Given the description of an element on the screen output the (x, y) to click on. 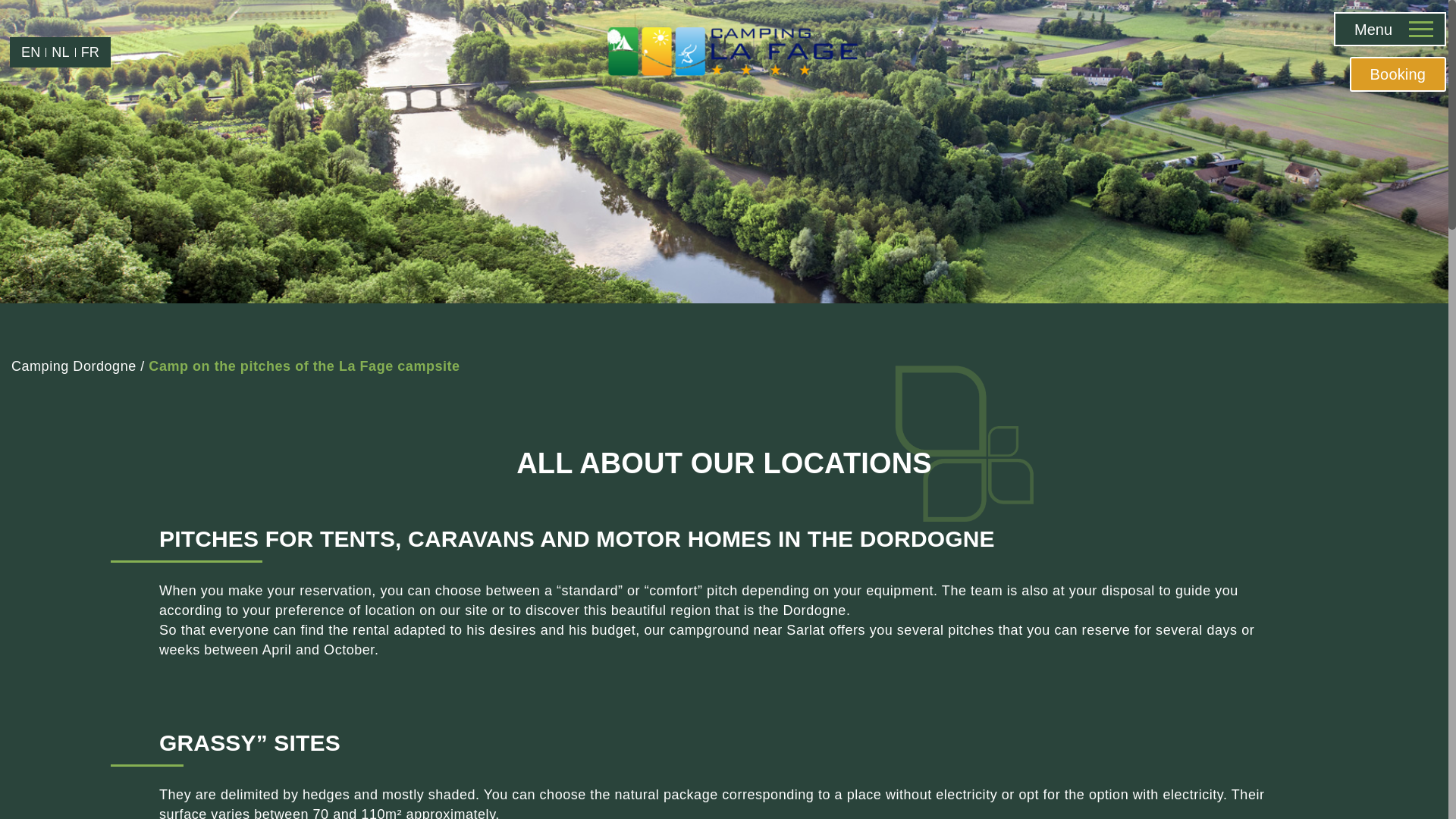
NL (59, 51)
Booking (1397, 73)
EN (30, 51)
NL (59, 51)
Menu (1389, 28)
FR (90, 51)
FR (90, 51)
EN (30, 51)
